Given the description of an element on the screen output the (x, y) to click on. 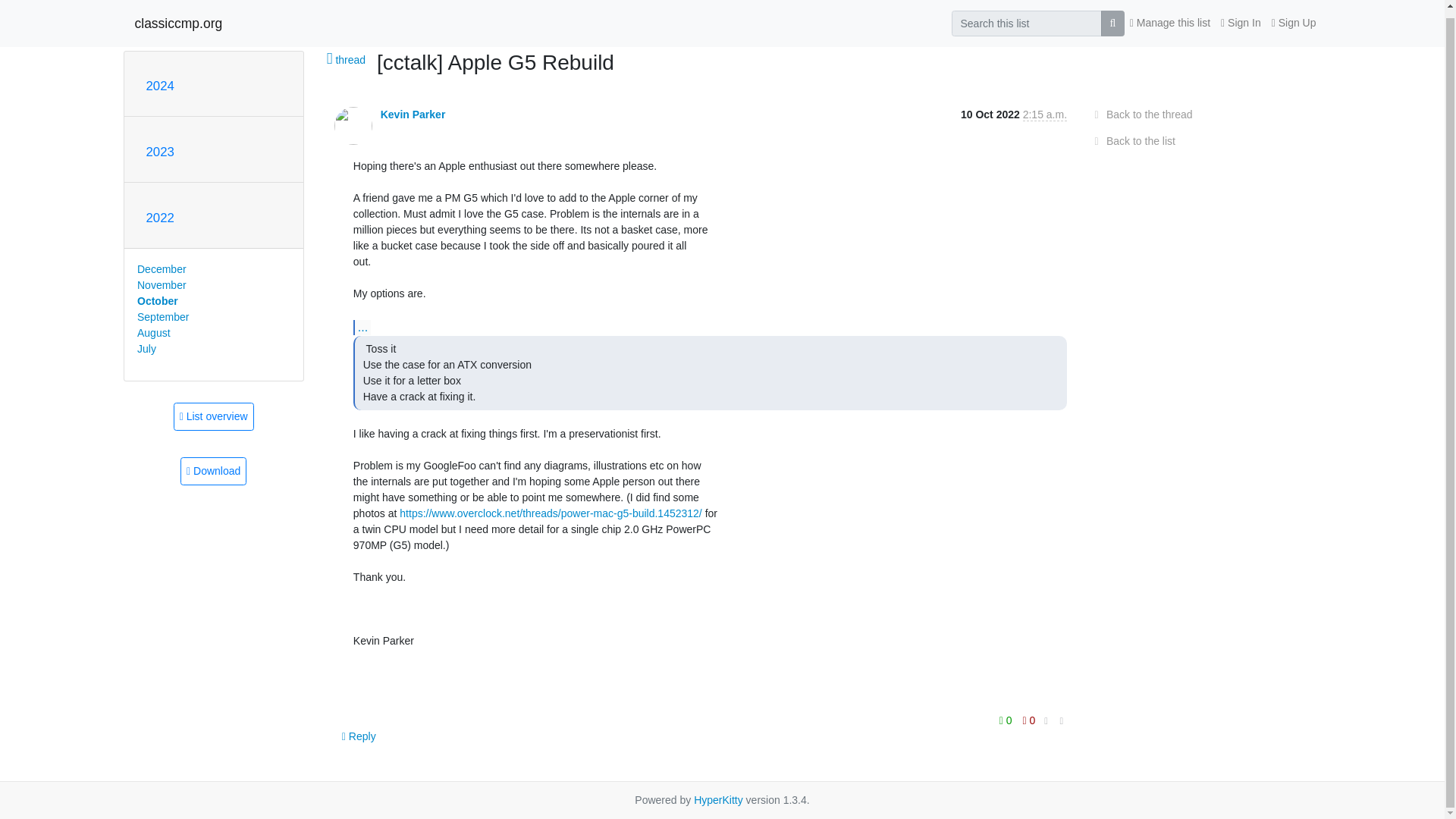
2024 (159, 85)
classiccmp.org (178, 16)
2022 (159, 217)
This message in gzipped mbox format (213, 471)
Sign Up (1294, 16)
September (162, 316)
You must be logged-in to vote. (1007, 720)
November (161, 285)
You must be logged-in to vote. (1029, 720)
List overview (213, 416)
